Given the description of an element on the screen output the (x, y) to click on. 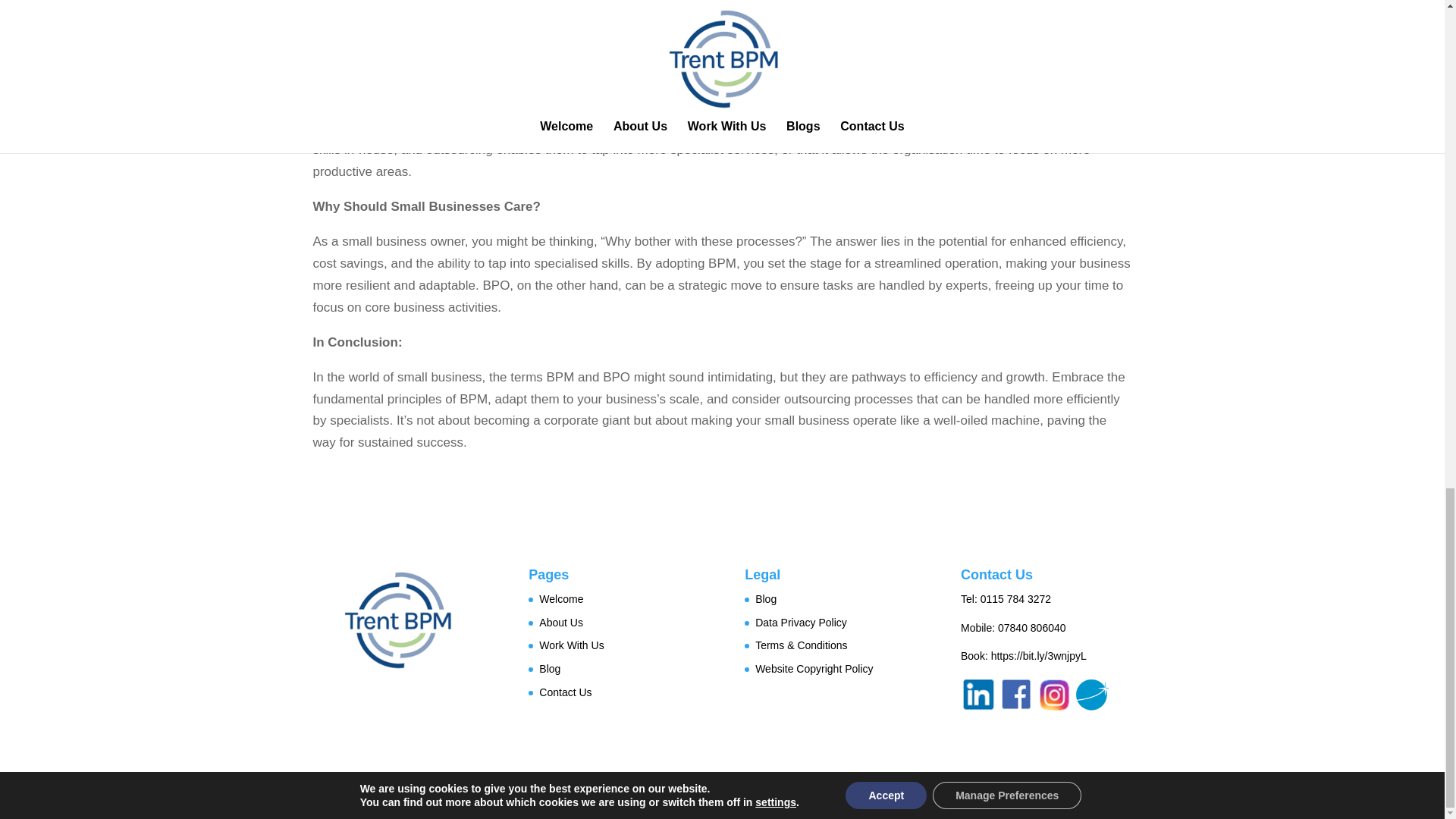
Contact Us (564, 692)
Data Privacy Policy (801, 622)
0115 784 3272 (1015, 598)
Blog (549, 668)
About Us (560, 622)
Blog (765, 598)
Work With Us (571, 645)
Website Copyright Policy (813, 668)
Stepping Stones Web (767, 796)
Welcome (560, 598)
07840 806040 (1031, 627)
